Given the description of an element on the screen output the (x, y) to click on. 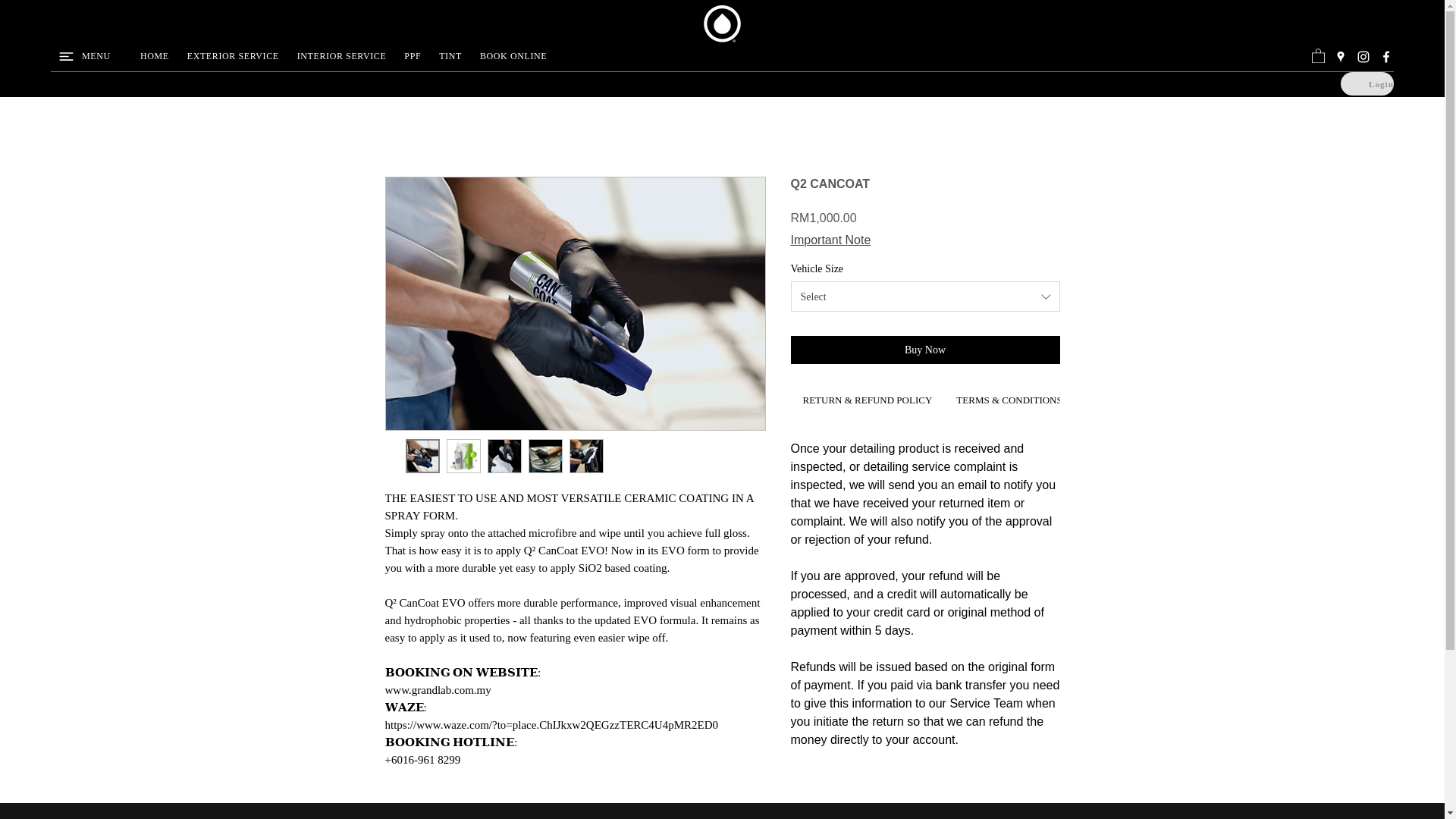
BOOK ONLINE (512, 56)
MENU (93, 56)
Important Note (830, 240)
Use right and left arrows to navigate between tabs (867, 402)
Login (1366, 83)
TINT (449, 56)
Select (924, 296)
EXTERIOR SERVICE (232, 56)
INTERIOR SERVICE (341, 56)
Use right and left arrows to navigate between tabs (1007, 402)
PPF (412, 56)
Buy Now (924, 349)
HOME (154, 56)
